Given the description of an element on the screen output the (x, y) to click on. 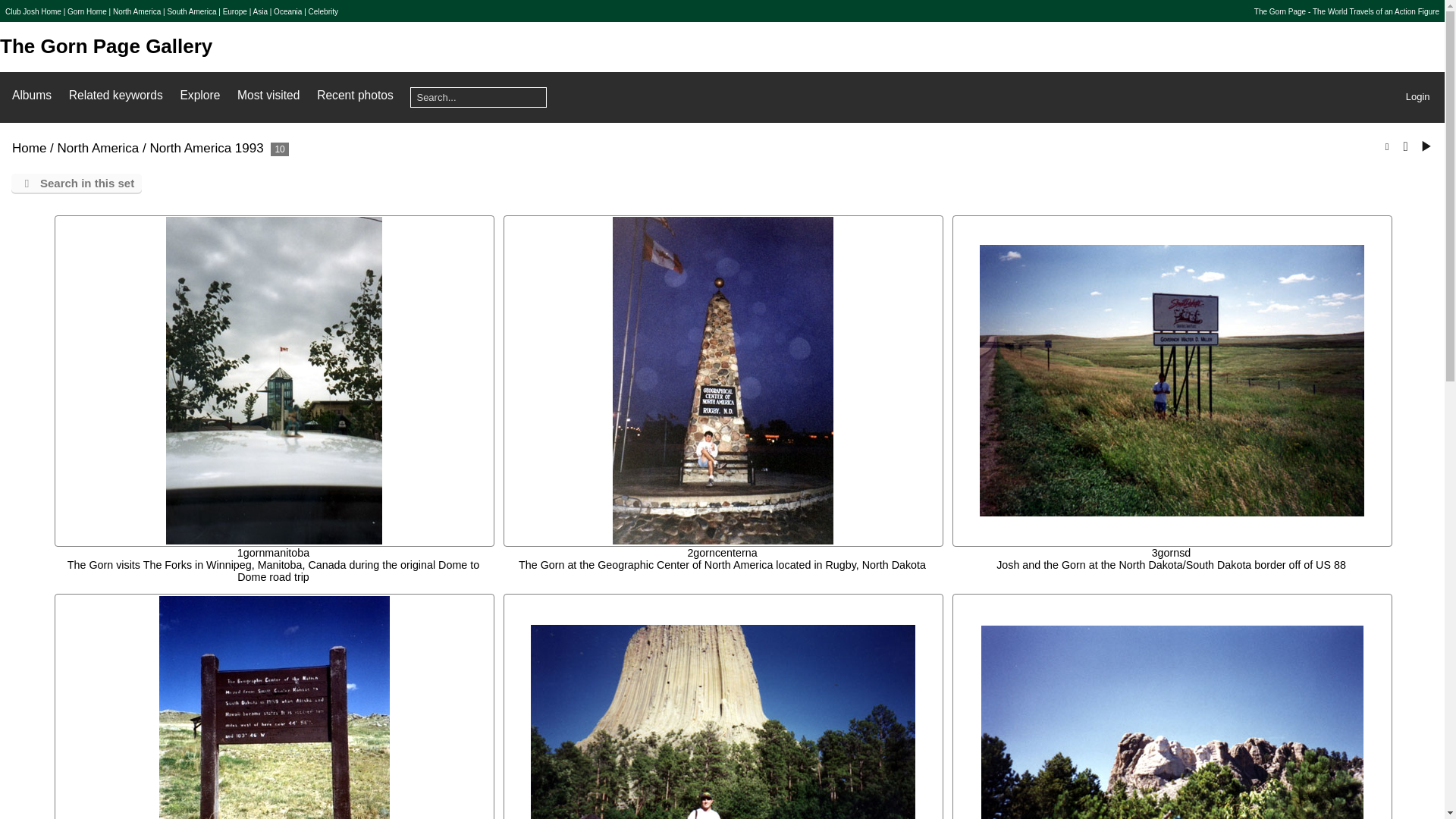
Club Josh Home (33, 11)
South America (191, 11)
Albums (30, 94)
Celebrity (322, 11)
North America (136, 11)
Oceania (287, 11)
Asia (260, 11)
Europe (234, 11)
Gorn Home (86, 11)
